Given the description of an element on the screen output the (x, y) to click on. 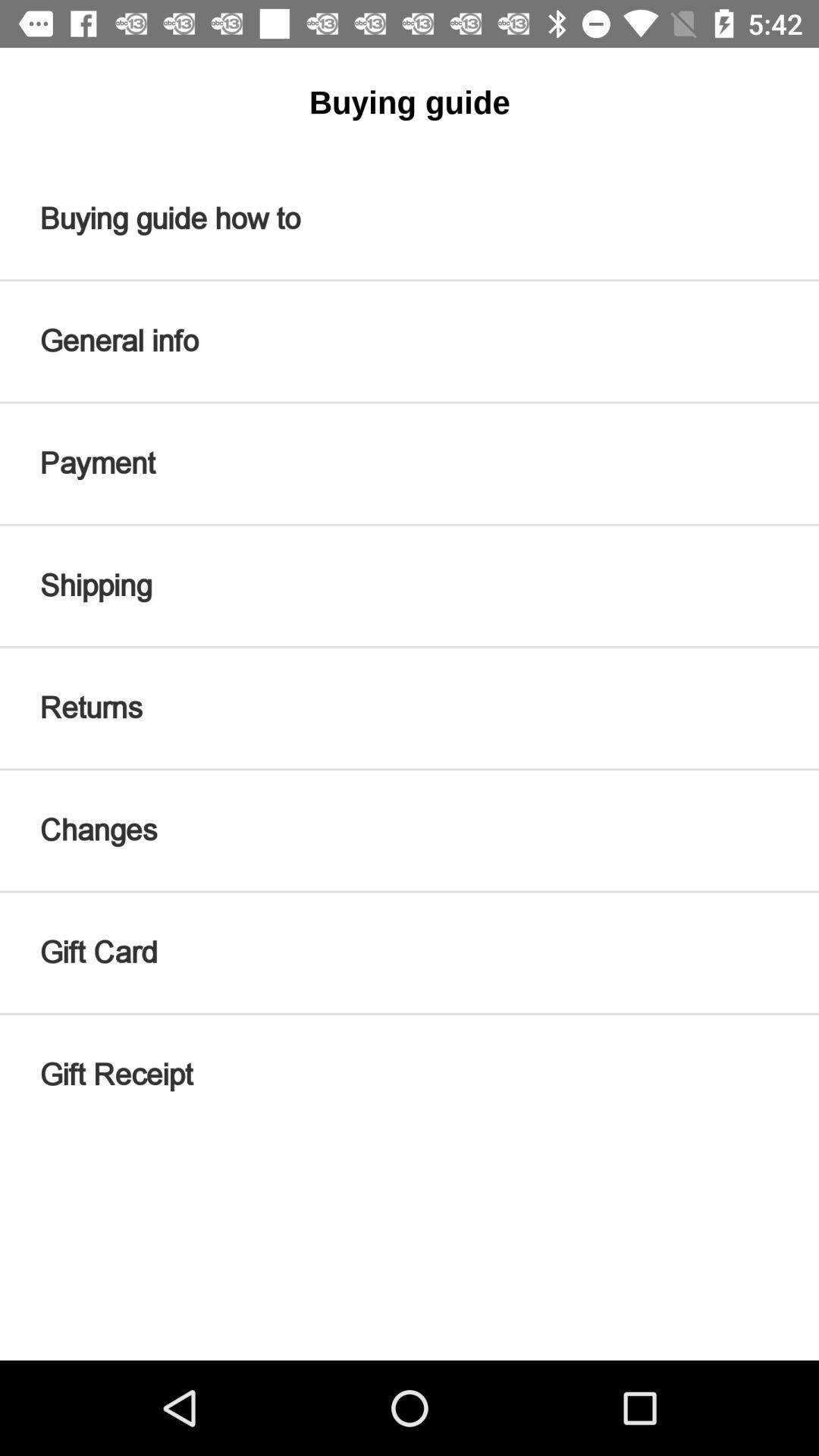
turn on the icon above payment item (409, 341)
